Given the description of an element on the screen output the (x, y) to click on. 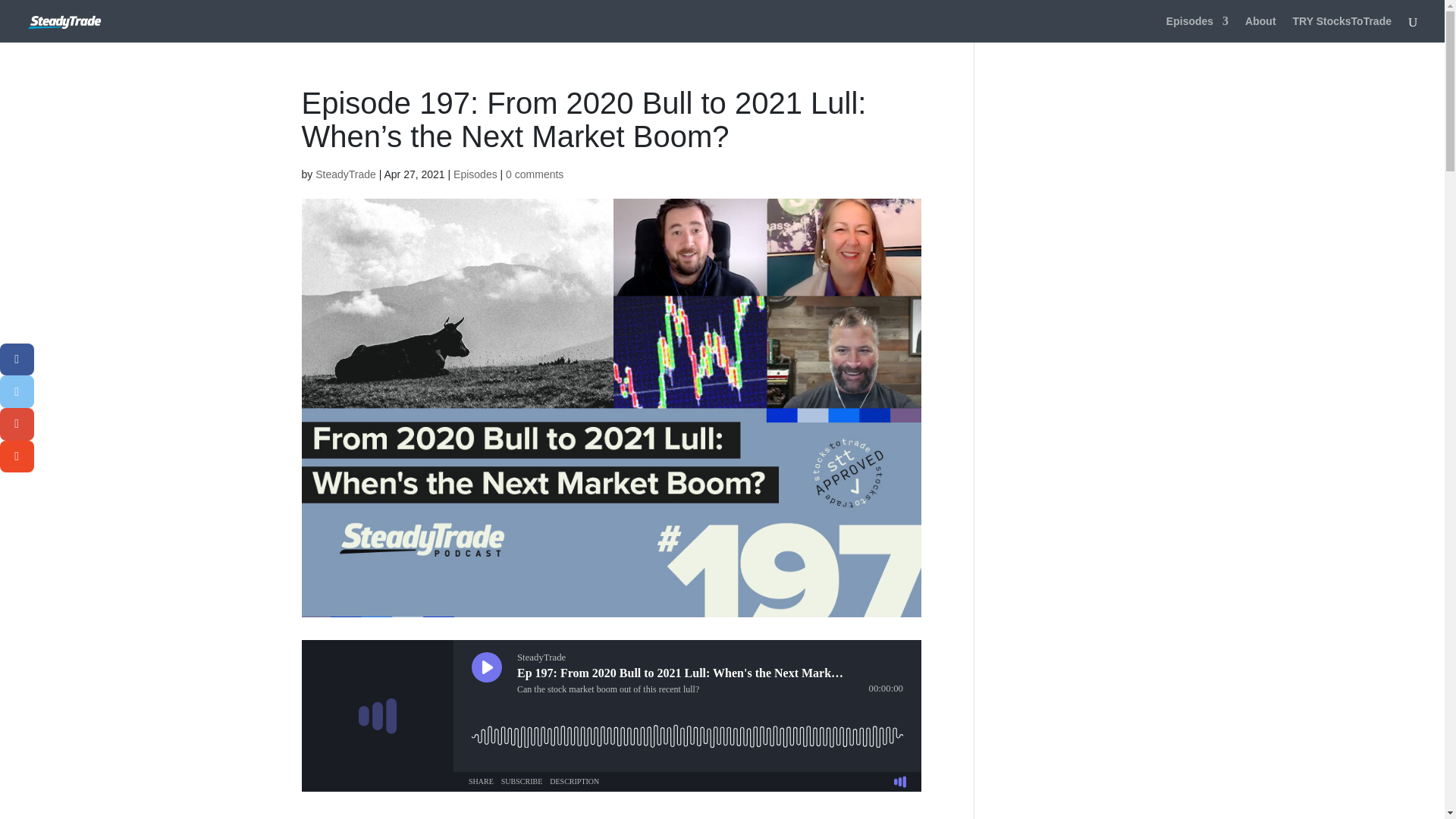
SteadyTrade (345, 174)
About (1259, 28)
Facebook (16, 359)
Episodes (1197, 28)
TRY StocksToTrade (1341, 28)
Twitter (16, 391)
Mail (16, 456)
Posts by SteadyTrade (345, 174)
0 comments (534, 174)
Episodes (474, 174)
